Given the description of an element on the screen output the (x, y) to click on. 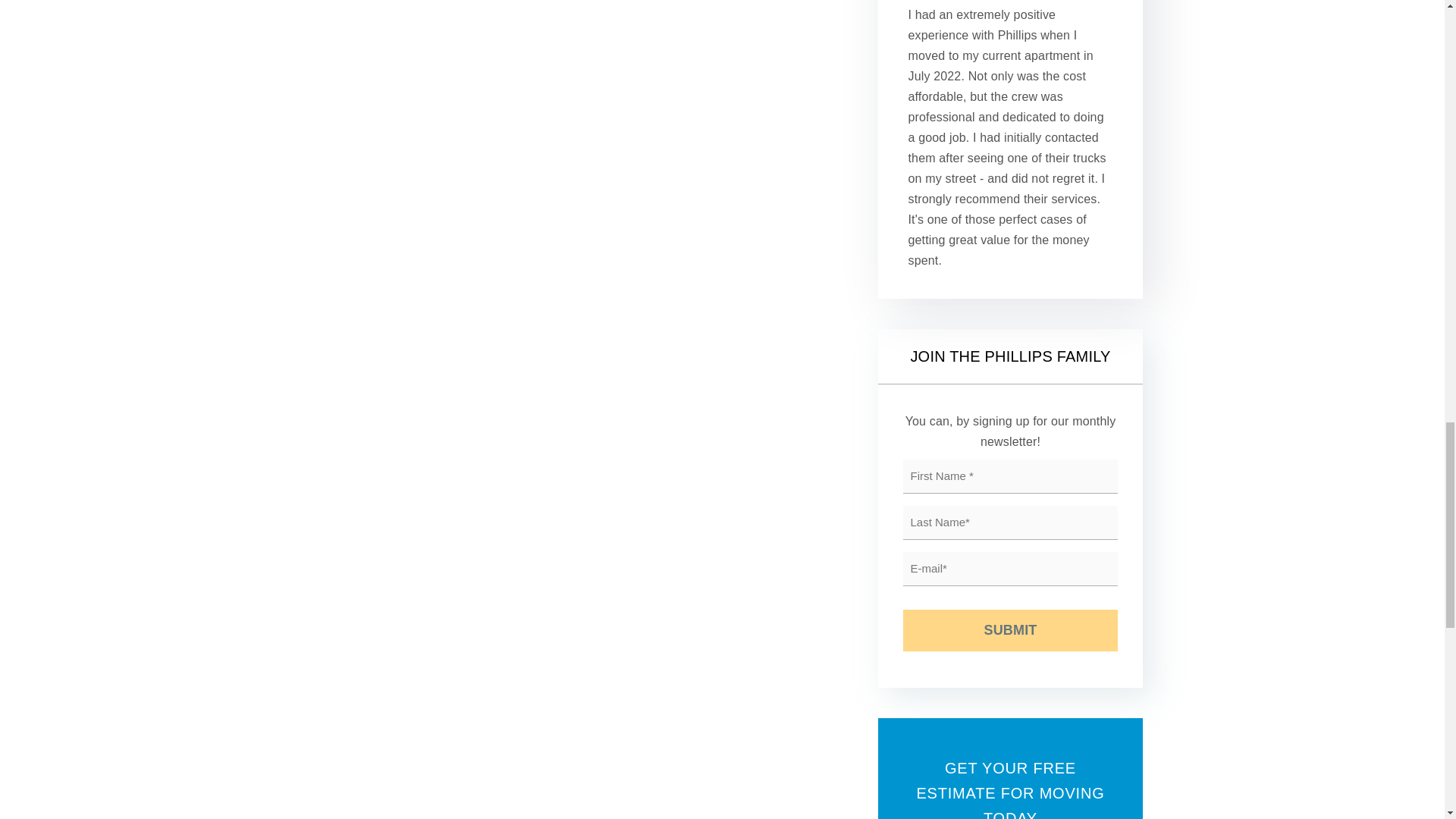
Submit (1010, 630)
